Given the description of an element on the screen output the (x, y) to click on. 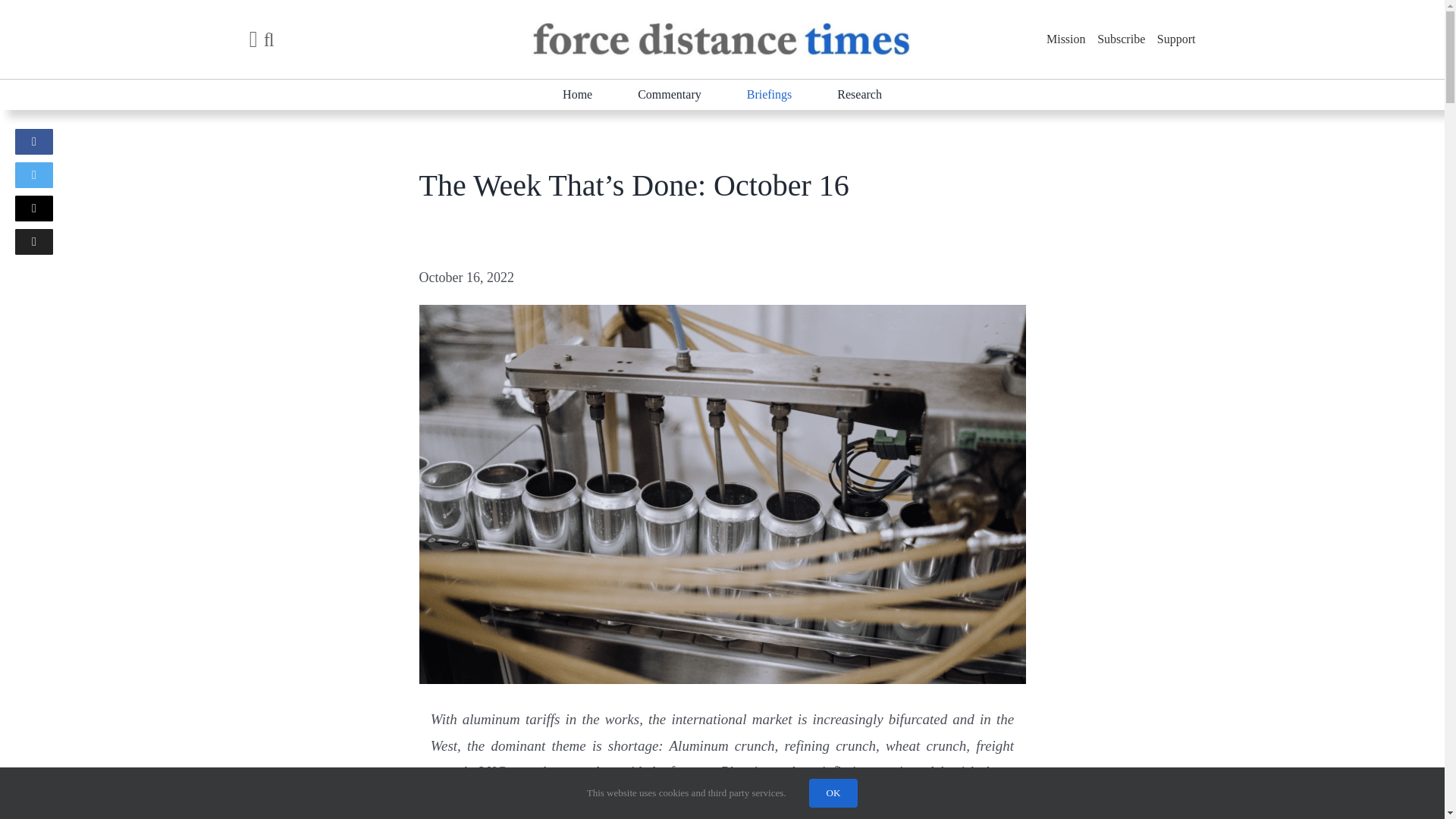
Subscribe (1120, 39)
Print page (33, 241)
Home (577, 94)
Commentary (669, 94)
Twitter (33, 175)
Support (1176, 39)
Briefings (769, 94)
Mission (1066, 39)
Facebook (33, 141)
Email (33, 208)
Research (859, 94)
